Given the description of an element on the screen output the (x, y) to click on. 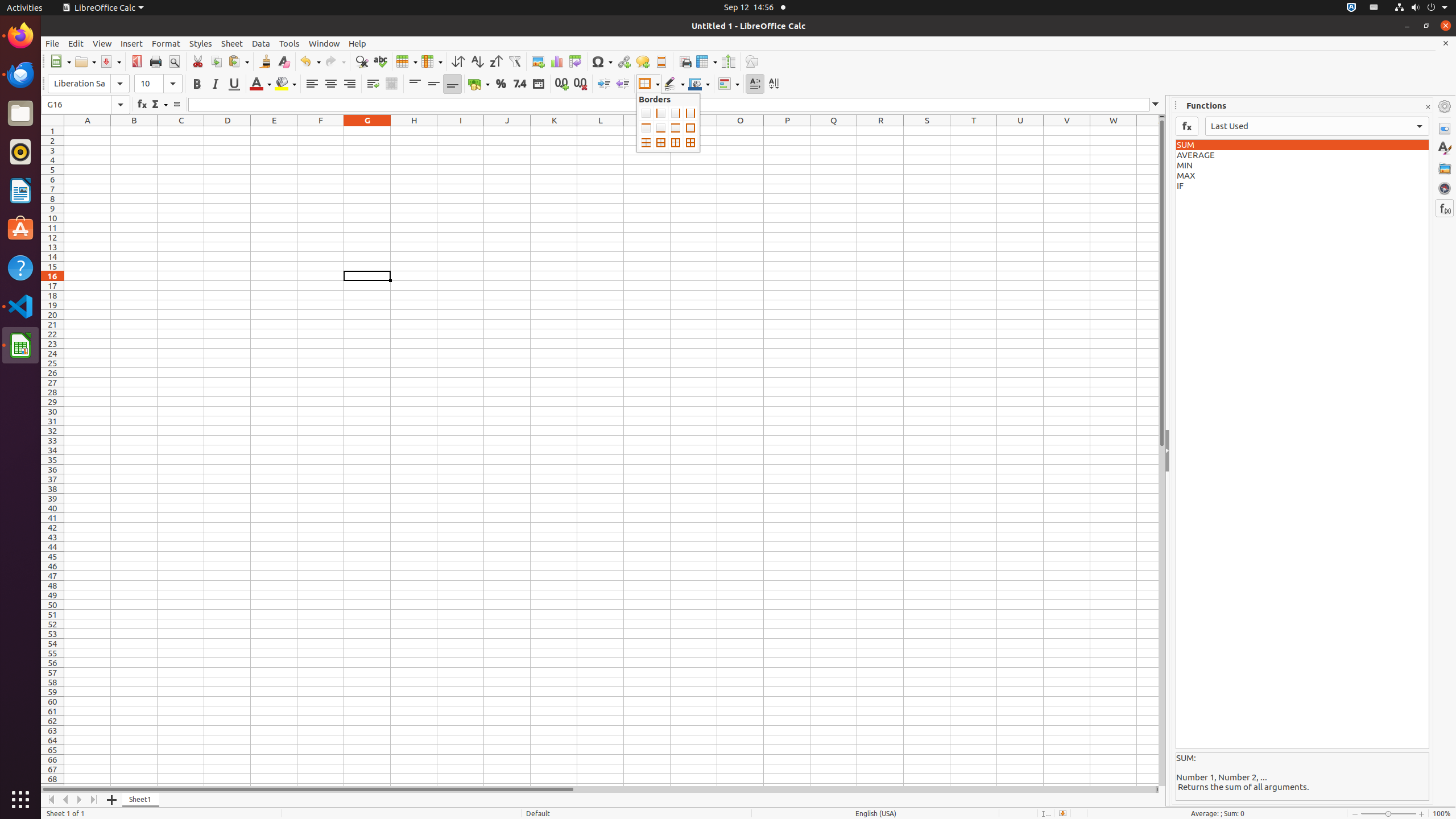
Insert Element type: menu (131, 43)
MAX Element type: list-item (1302, 175)
New Element type: push-button (59, 61)
Close Sidebar Deck Element type: push-button (1427, 106)
N1 Element type: table-cell (693, 130)
